Given the description of an element on the screen output the (x, y) to click on. 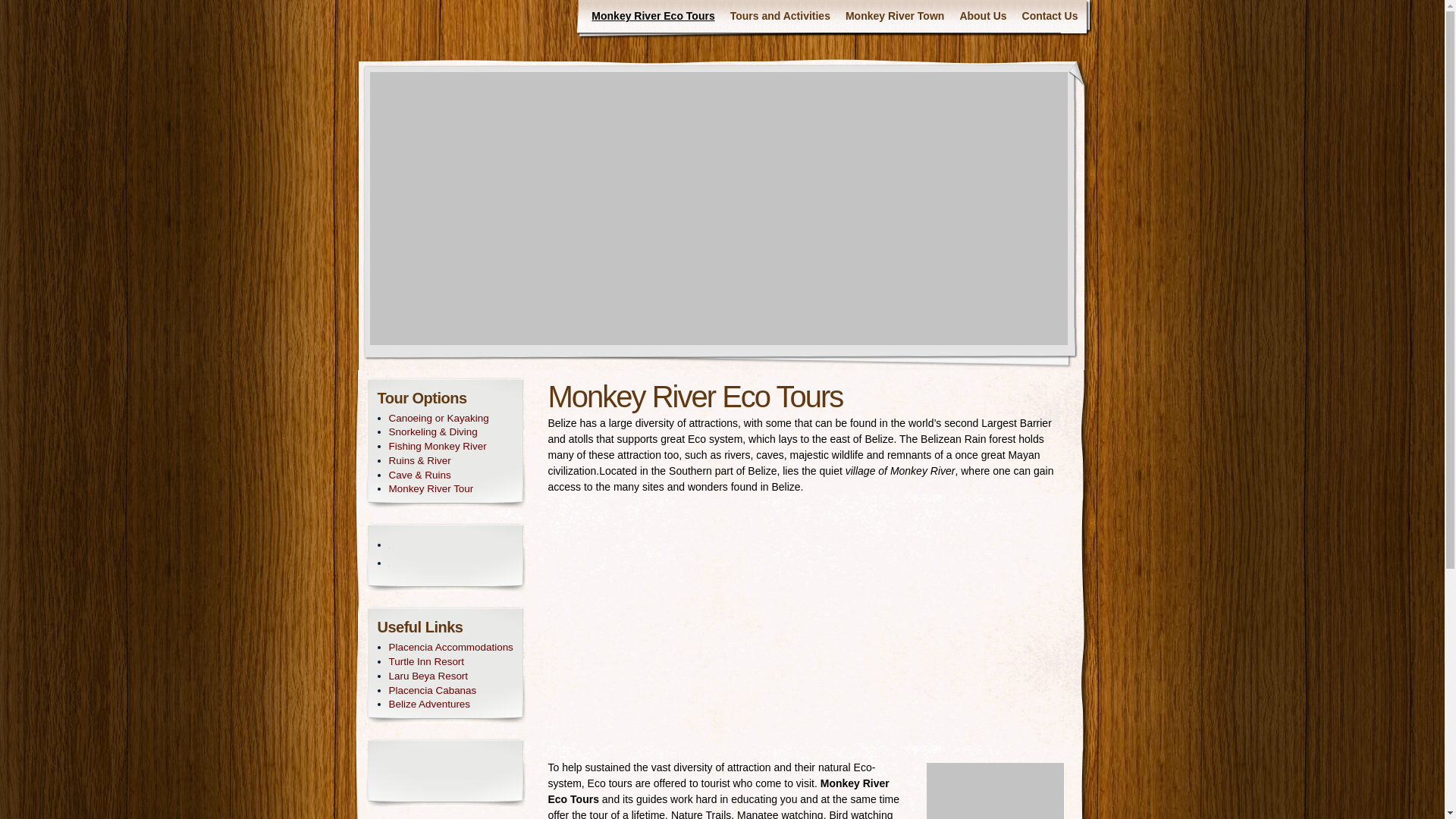
Placencia Accommodations (450, 647)
Placencia Cabanas (450, 690)
Monkey River Tour (450, 489)
Contact Us (1050, 16)
Fishing Monkey River (450, 446)
Placencia Cabanas (450, 690)
Monkey River Town (895, 16)
About Us (982, 16)
Laru Beya Resort (450, 676)
Monkey River Eco Tours (652, 16)
